Given the description of an element on the screen output the (x, y) to click on. 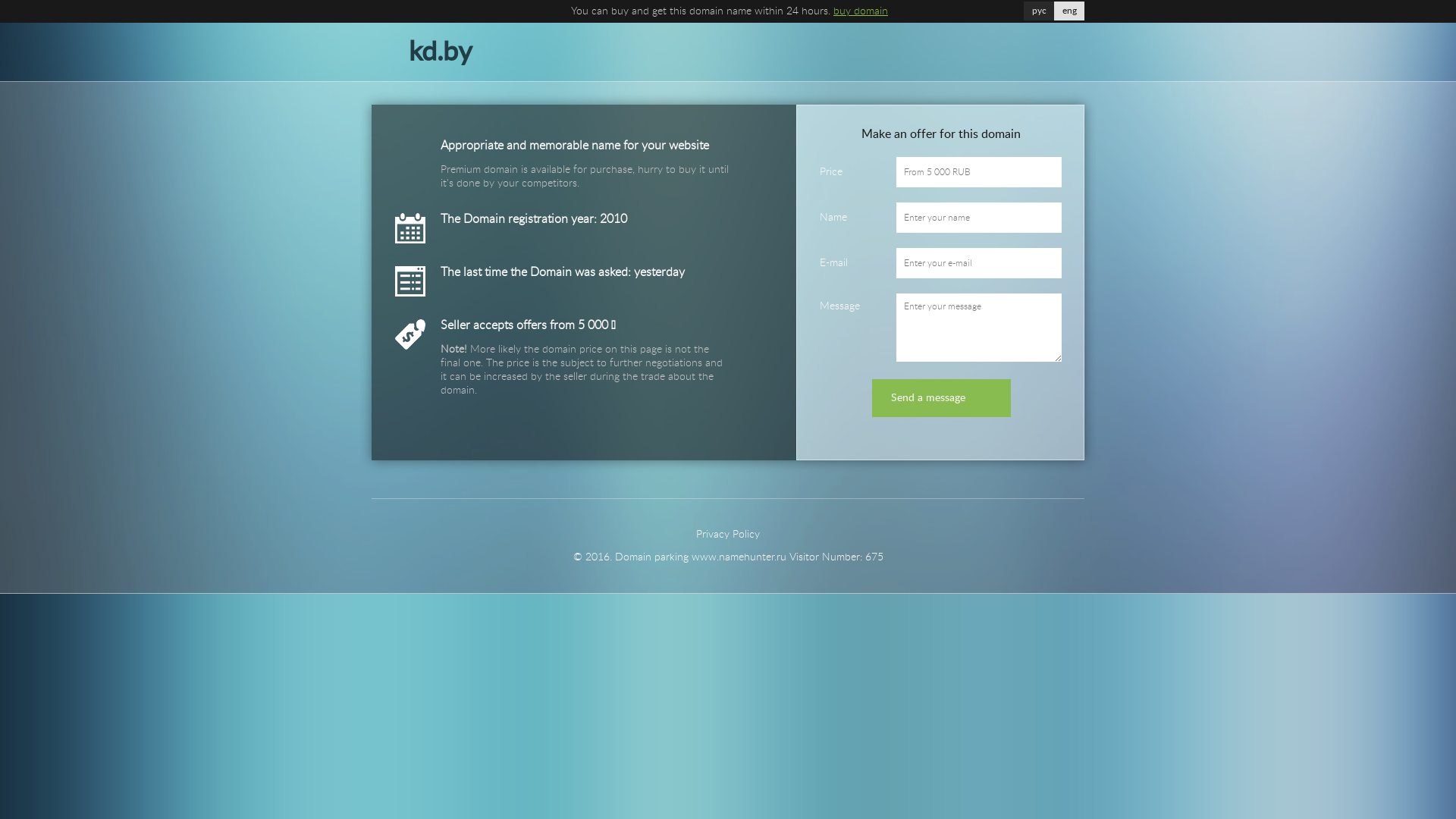
Privacy Policy Element type: text (727, 534)
Send a message Element type: text (941, 398)
www.namehunter.ru Element type: text (738, 557)
buy domain Element type: text (860, 11)
